Given the description of an element on the screen output the (x, y) to click on. 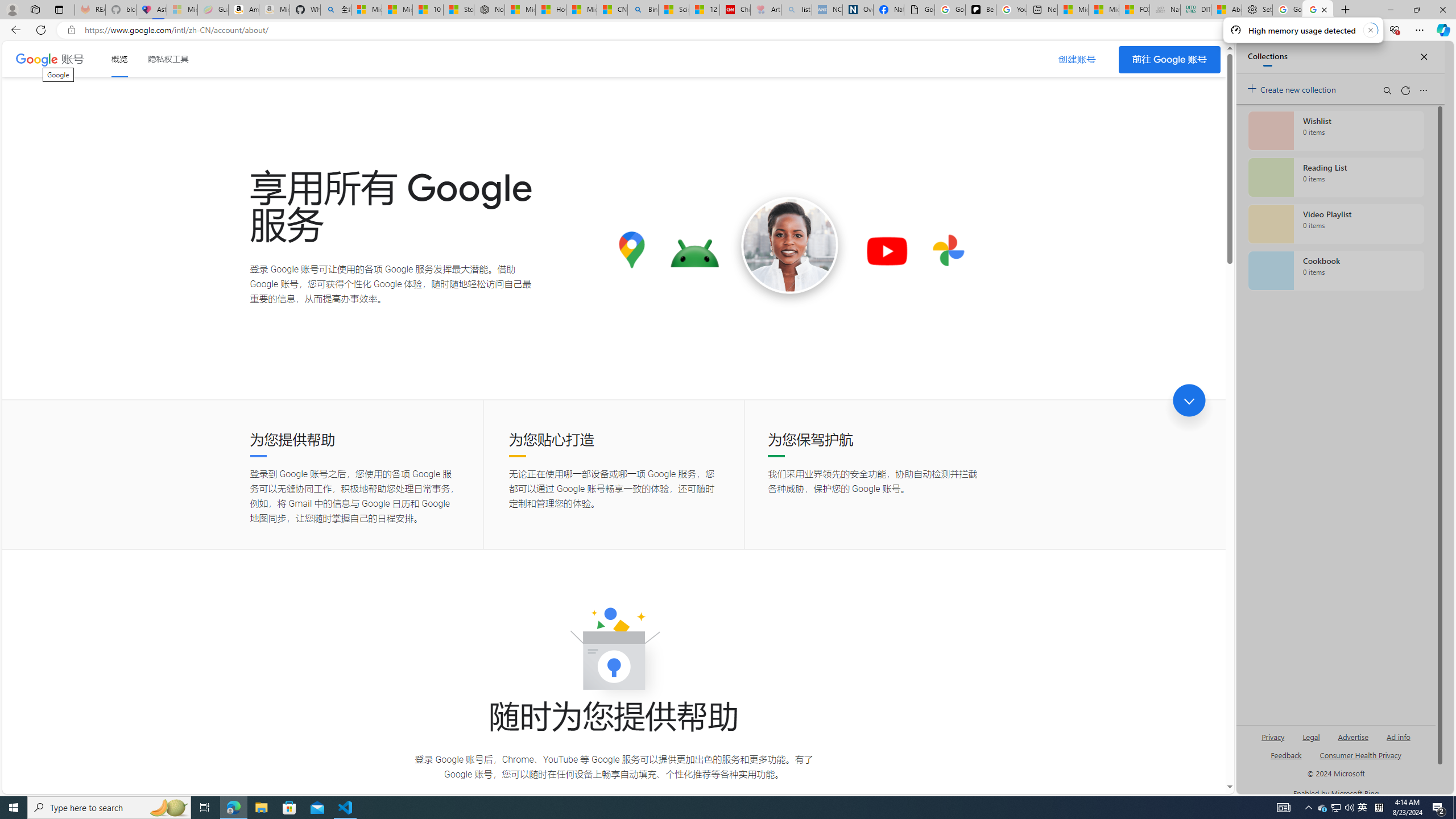
Arthritis: Ask Health Professionals - Sleeping (765, 9)
AutomationID: sb_feedback (1286, 754)
